Given the description of an element on the screen output the (x, y) to click on. 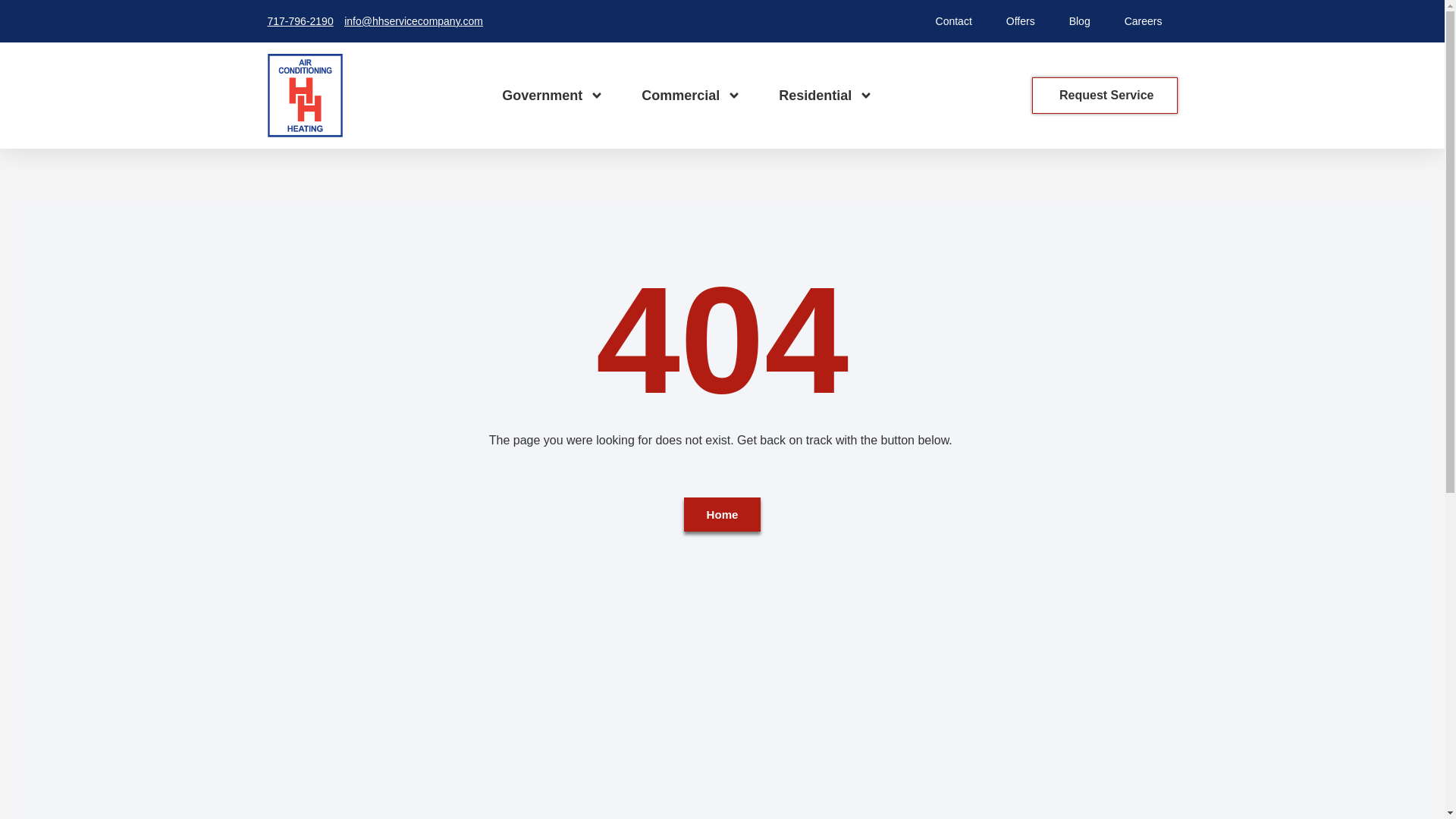
Offers (1020, 21)
Residential (825, 95)
Blog (1079, 21)
Careers (1143, 21)
Contact (953, 21)
717-796-2190 (303, 21)
Request Service (1104, 94)
Commercial (691, 95)
Government (553, 95)
